Given the description of an element on the screen output the (x, y) to click on. 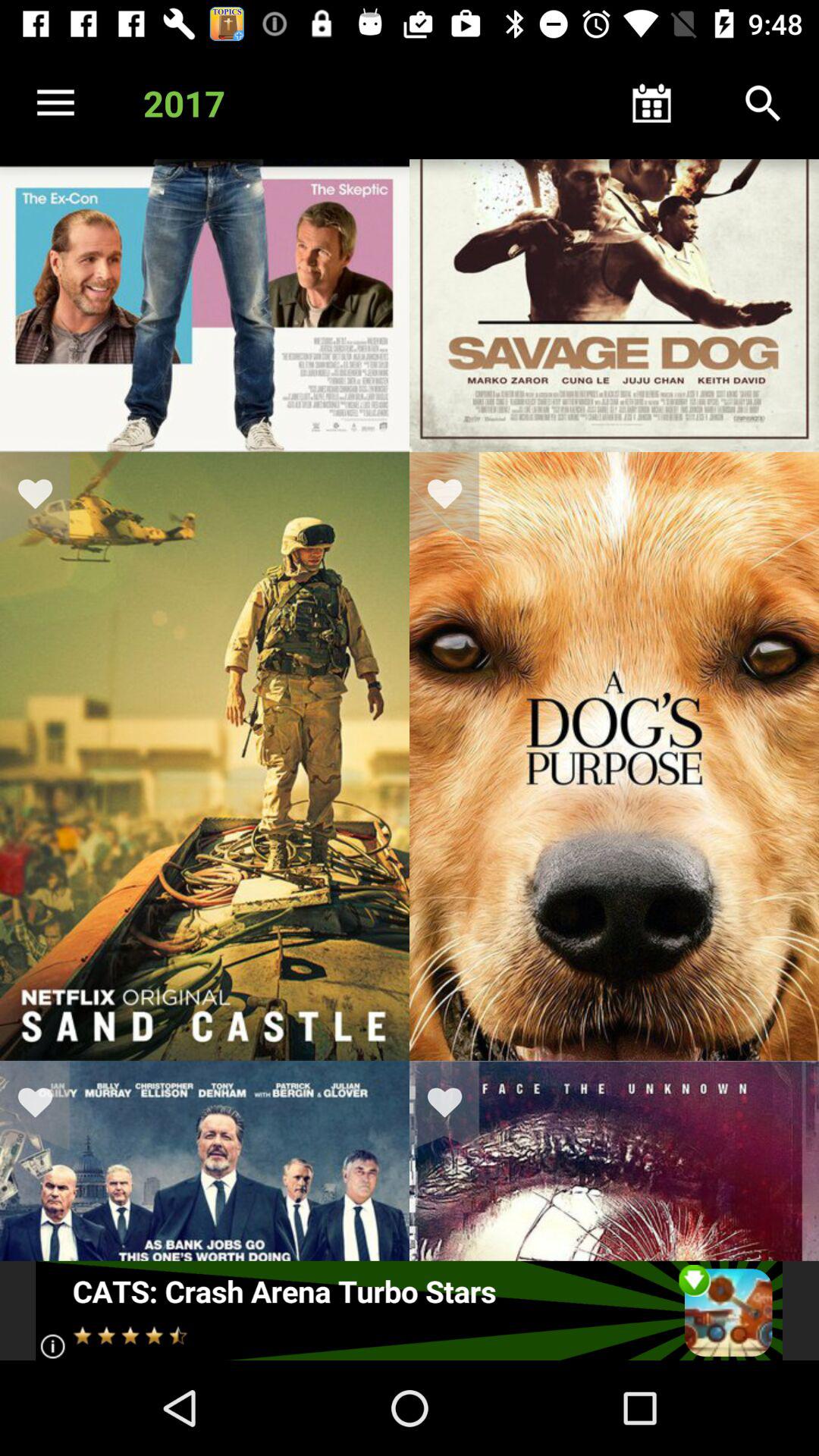
add to favorites (454, 497)
